Given the description of an element on the screen output the (x, y) to click on. 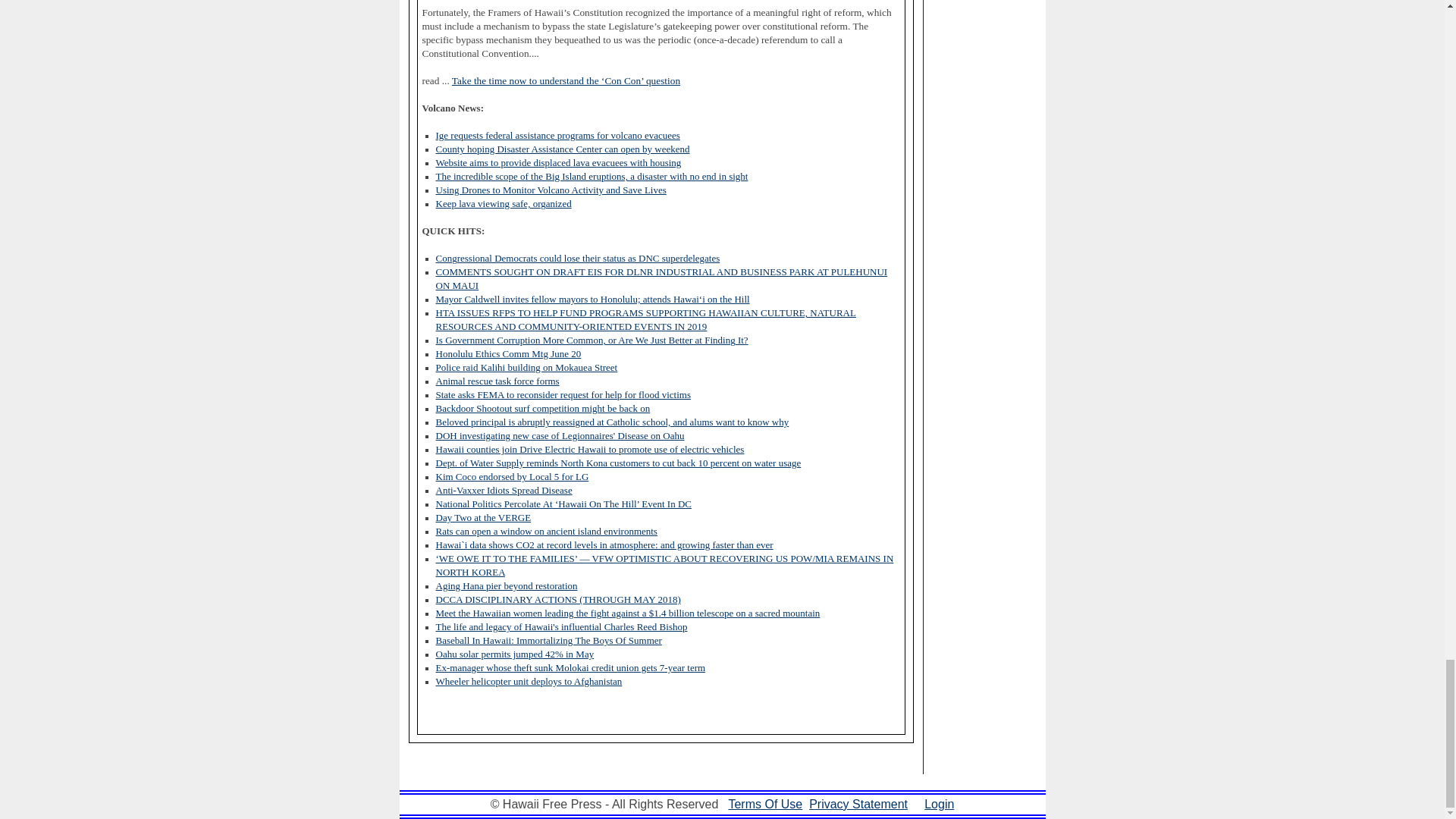
Login (938, 803)
